Given the description of an element on the screen output the (x, y) to click on. 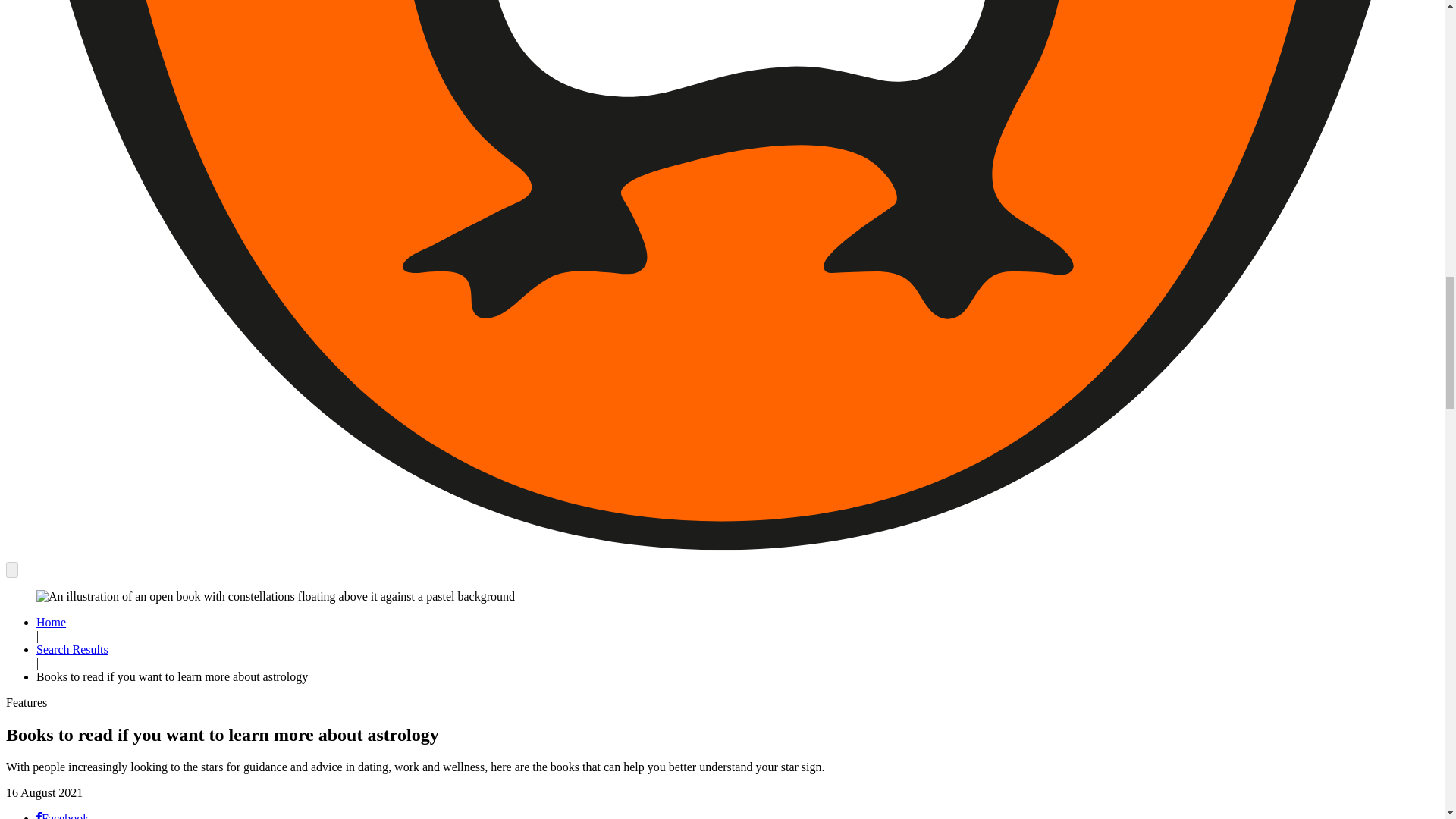
Facebook (62, 815)
Home (50, 621)
Search Results (71, 649)
